Given the description of an element on the screen output the (x, y) to click on. 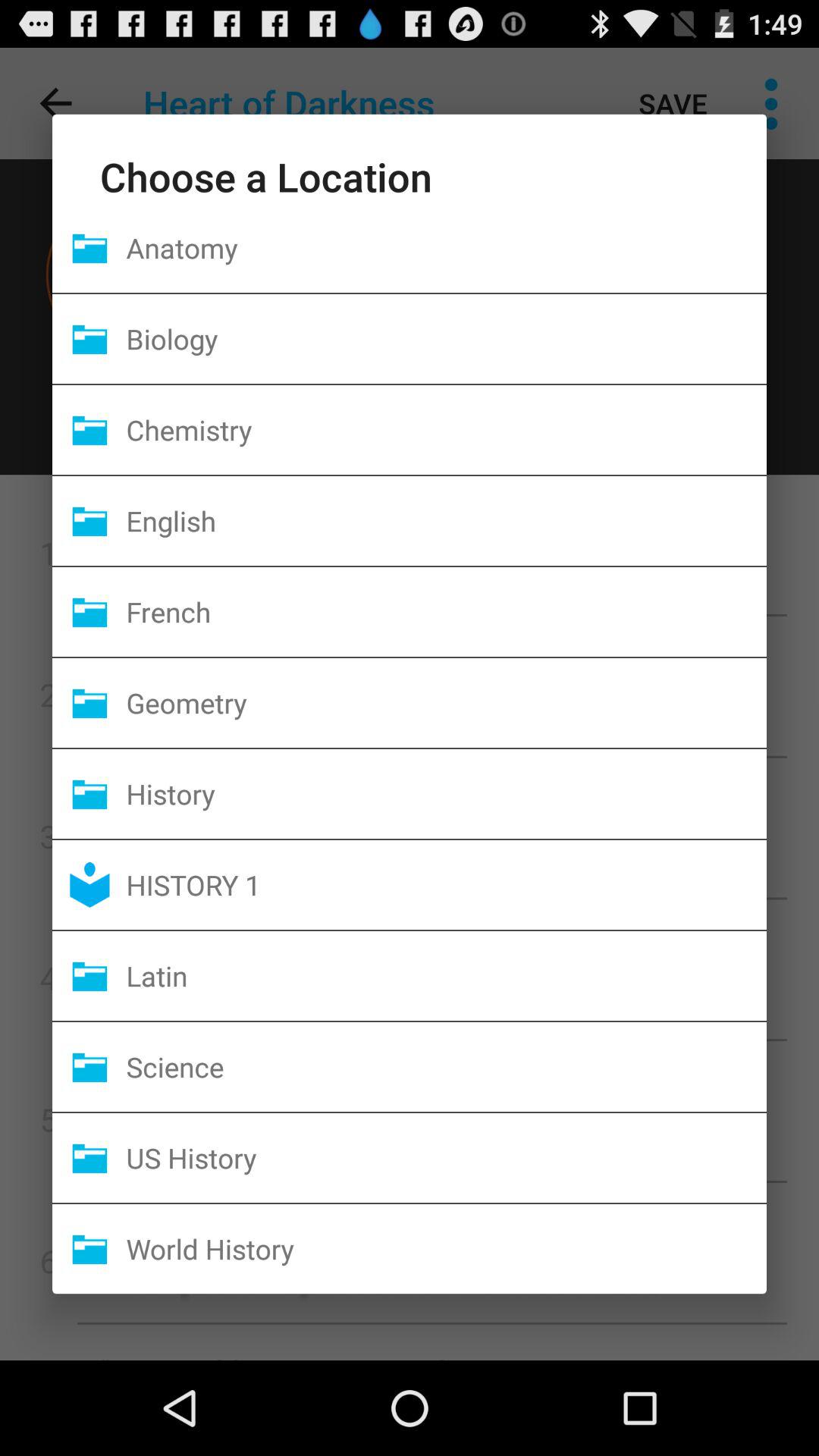
click the latin item (446, 975)
